Given the description of an element on the screen output the (x, y) to click on. 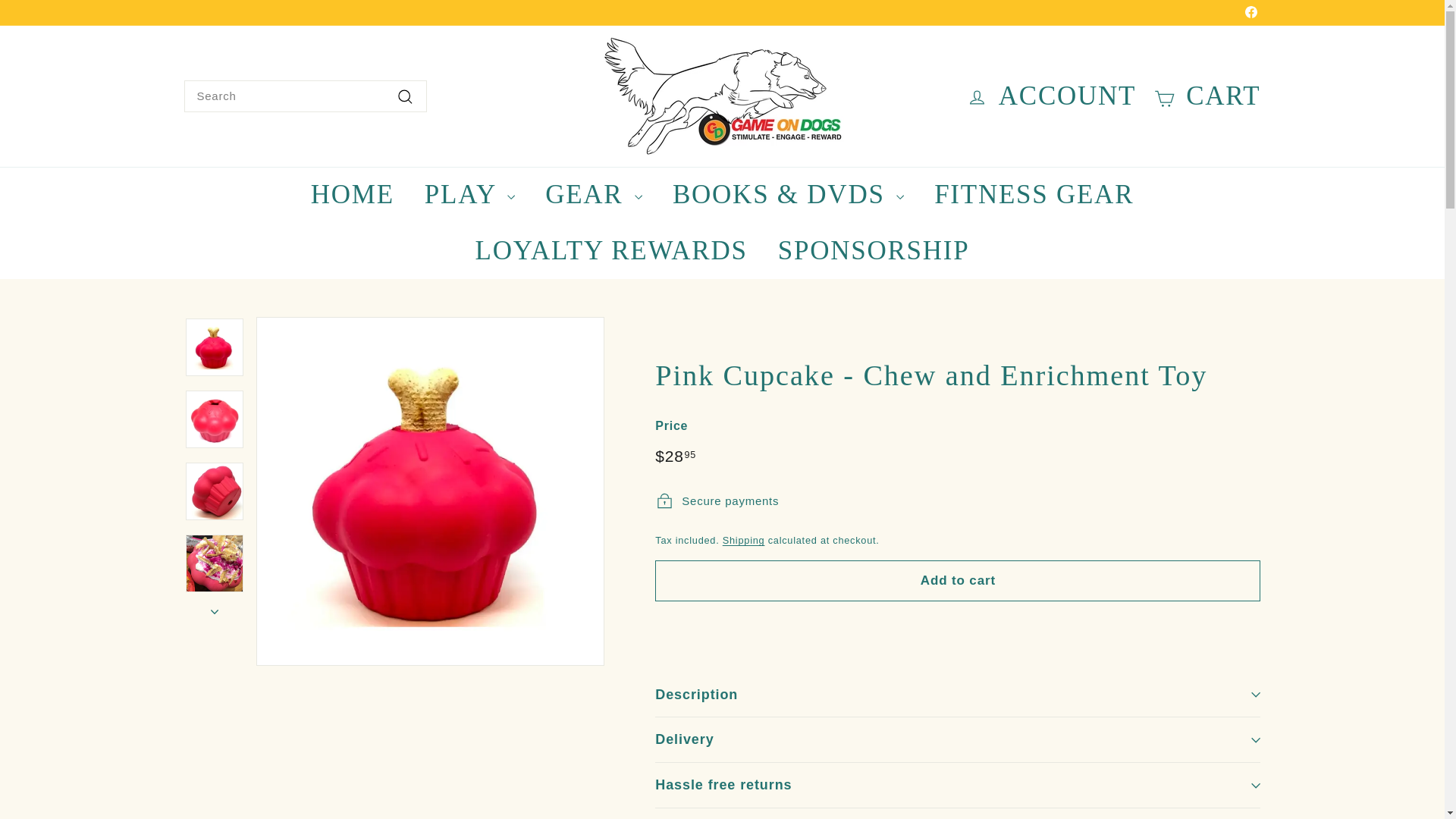
CART (1206, 95)
FITNESS GEAR (1033, 194)
icon-chevron (214, 611)
HOME (352, 194)
ACCOUNT (1051, 95)
